Given the description of an element on the screen output the (x, y) to click on. 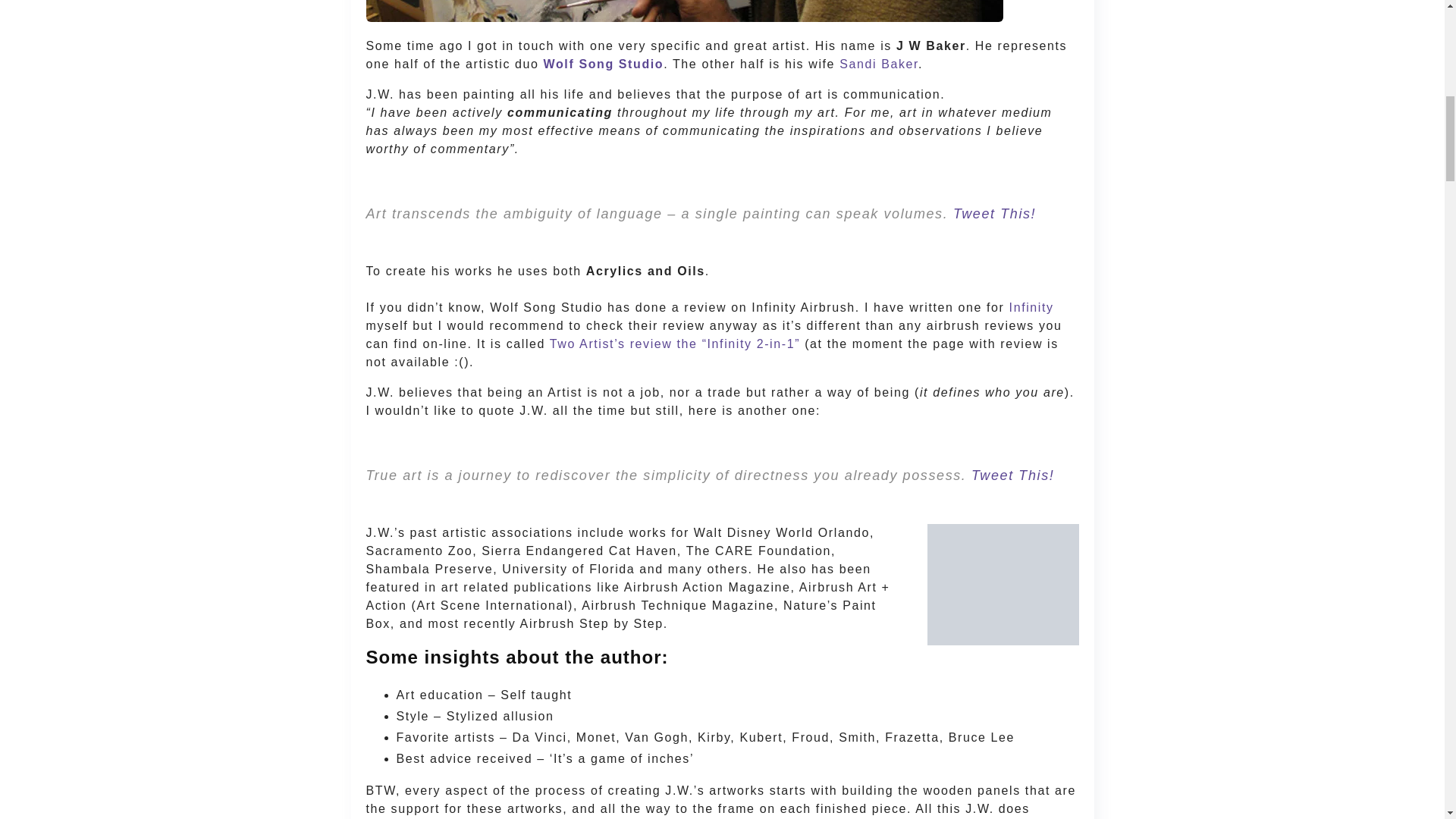
wolf song studio (603, 63)
Sandi Baker (879, 63)
infinity review (674, 343)
The Art Language (994, 213)
True Art (1012, 475)
Tweet This! (1012, 475)
Infinity (1031, 307)
Harder and Steenbeck Infinity Review (1031, 307)
Wolf Song Studio (603, 63)
Sandi Baker (879, 63)
Tweet This! (994, 213)
